Given the description of an element on the screen output the (x, y) to click on. 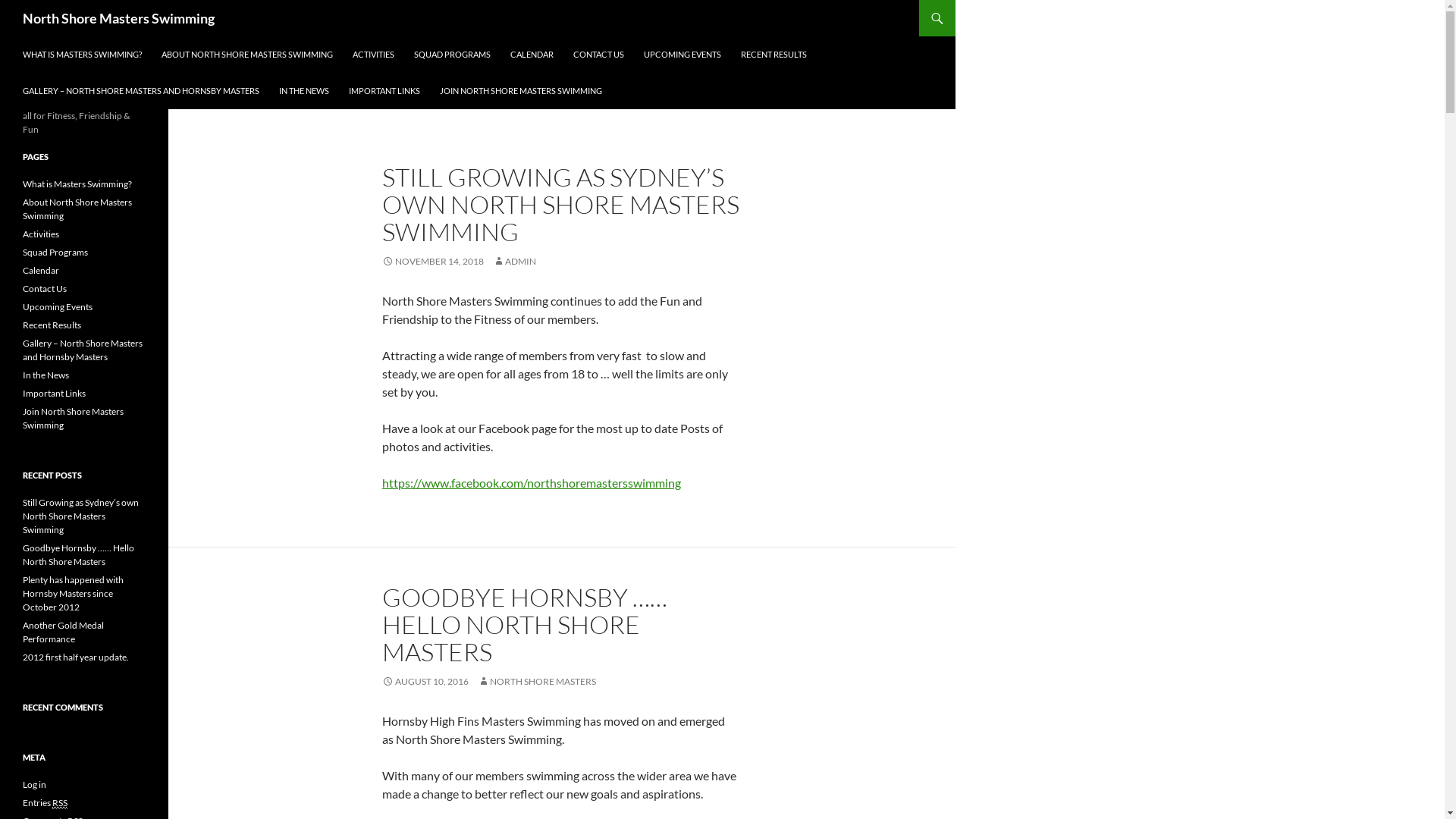
NOVEMBER 14, 2018 Element type: text (432, 260)
ACTIVITIES Element type: text (373, 54)
Calendar Element type: text (40, 270)
IN THE NEWS Element type: text (303, 90)
CALENDAR Element type: text (531, 54)
Squad Programs Element type: text (54, 251)
Search Element type: text (3, 0)
https://www.facebook.com/northshoremastersswimming Element type: text (531, 482)
What is Masters Swimming? Element type: text (76, 183)
2012 first half year update. Element type: text (75, 656)
Important Links Element type: text (53, 392)
WHAT IS MASTERS SWIMMING? Element type: text (81, 54)
Plenty has happened with Hornsby Masters since October 2012 Element type: text (72, 593)
Entries RSS Element type: text (44, 803)
RECENT RESULTS Element type: text (773, 54)
SQUAD PROGRAMS Element type: text (451, 54)
Another Gold Medal Performance Element type: text (62, 631)
Join North Shore Masters Swimming Element type: text (72, 417)
ABOUT NORTH SHORE MASTERS SWIMMING Element type: text (247, 54)
Recent Results Element type: text (51, 324)
SKIP TO CONTENT Element type: text (22, 36)
CONTACT US Element type: text (598, 54)
JOIN NORTH SHORE MASTERS SWIMMING Element type: text (520, 90)
Log in Element type: text (34, 784)
AUGUST 10, 2016 Element type: text (425, 681)
IMPORTANT LINKS Element type: text (384, 90)
ADMIN Element type: text (514, 260)
NORTH SHORE MASTERS Element type: text (536, 681)
Activities Element type: text (40, 233)
Upcoming Events Element type: text (57, 306)
UPCOMING EVENTS Element type: text (682, 54)
About North Shore Masters Swimming Element type: text (76, 208)
North Shore Masters Swimming Element type: text (118, 18)
Contact Us Element type: text (44, 288)
In the News Element type: text (45, 374)
